Given the description of an element on the screen output the (x, y) to click on. 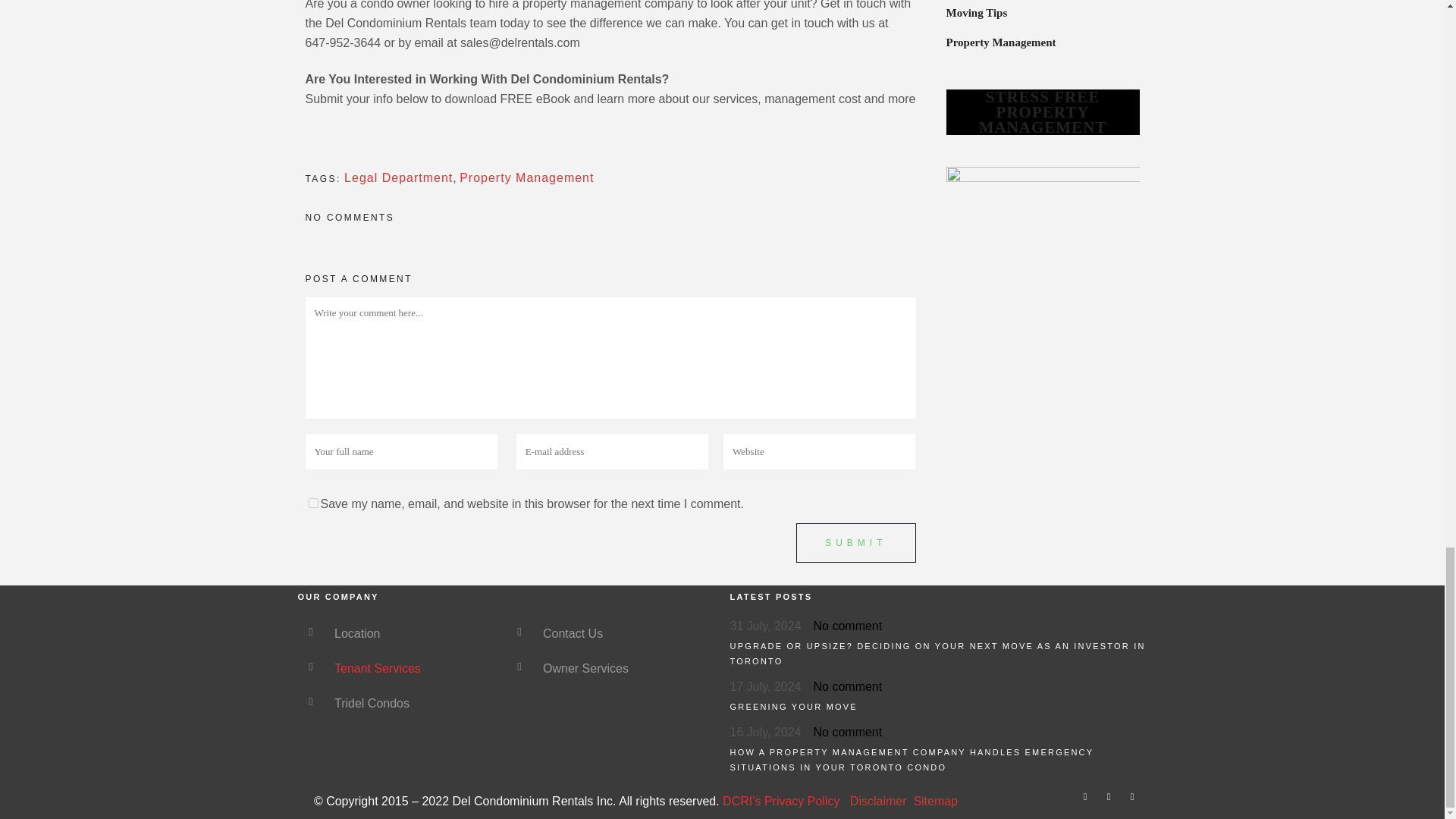
Legal Department (397, 177)
Property Management (527, 177)
Submit (855, 542)
yes (312, 502)
